Given the description of an element on the screen output the (x, y) to click on. 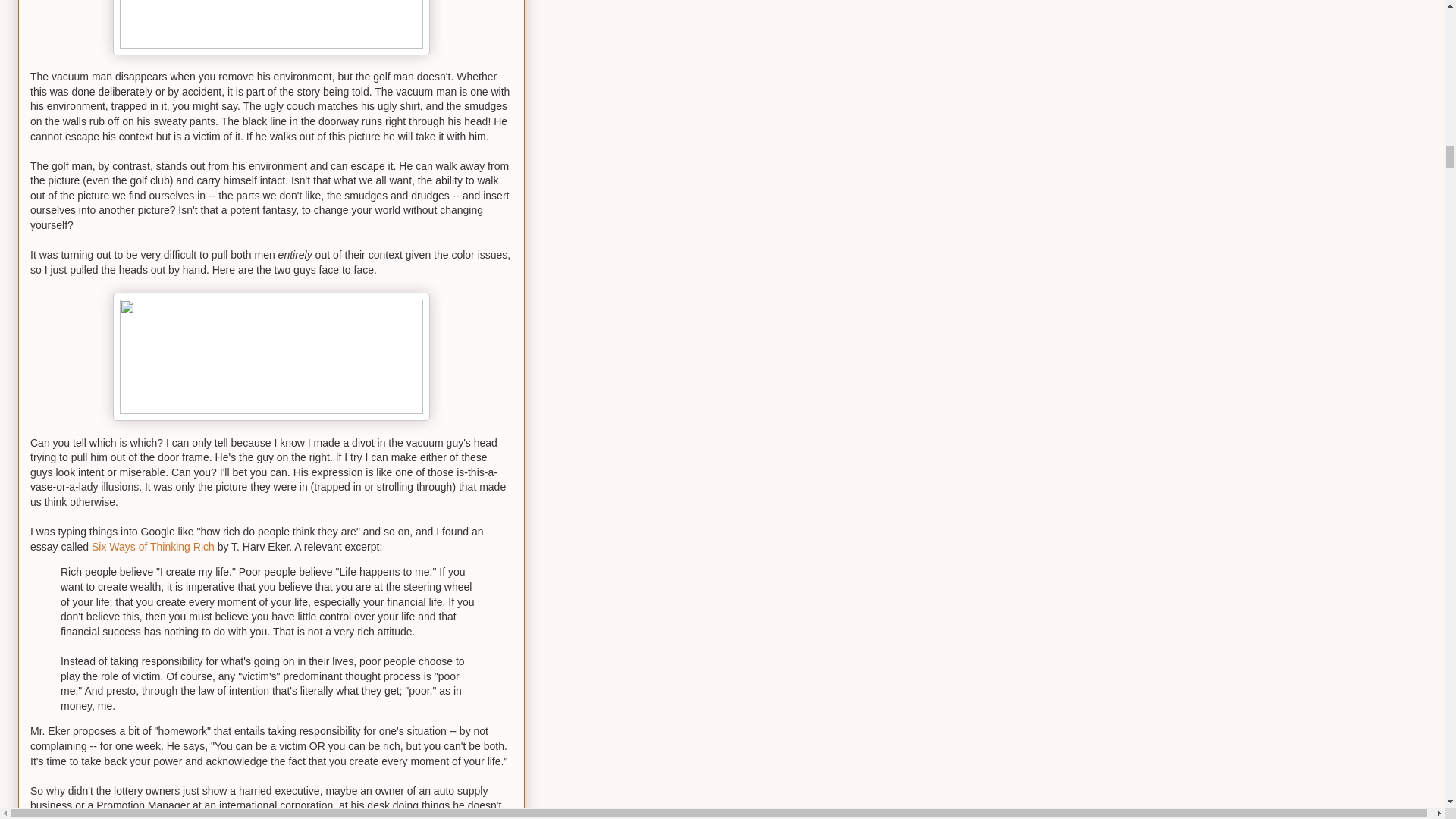
Six Ways of Thinking Rich (152, 546)
